Given the description of an element on the screen output the (x, y) to click on. 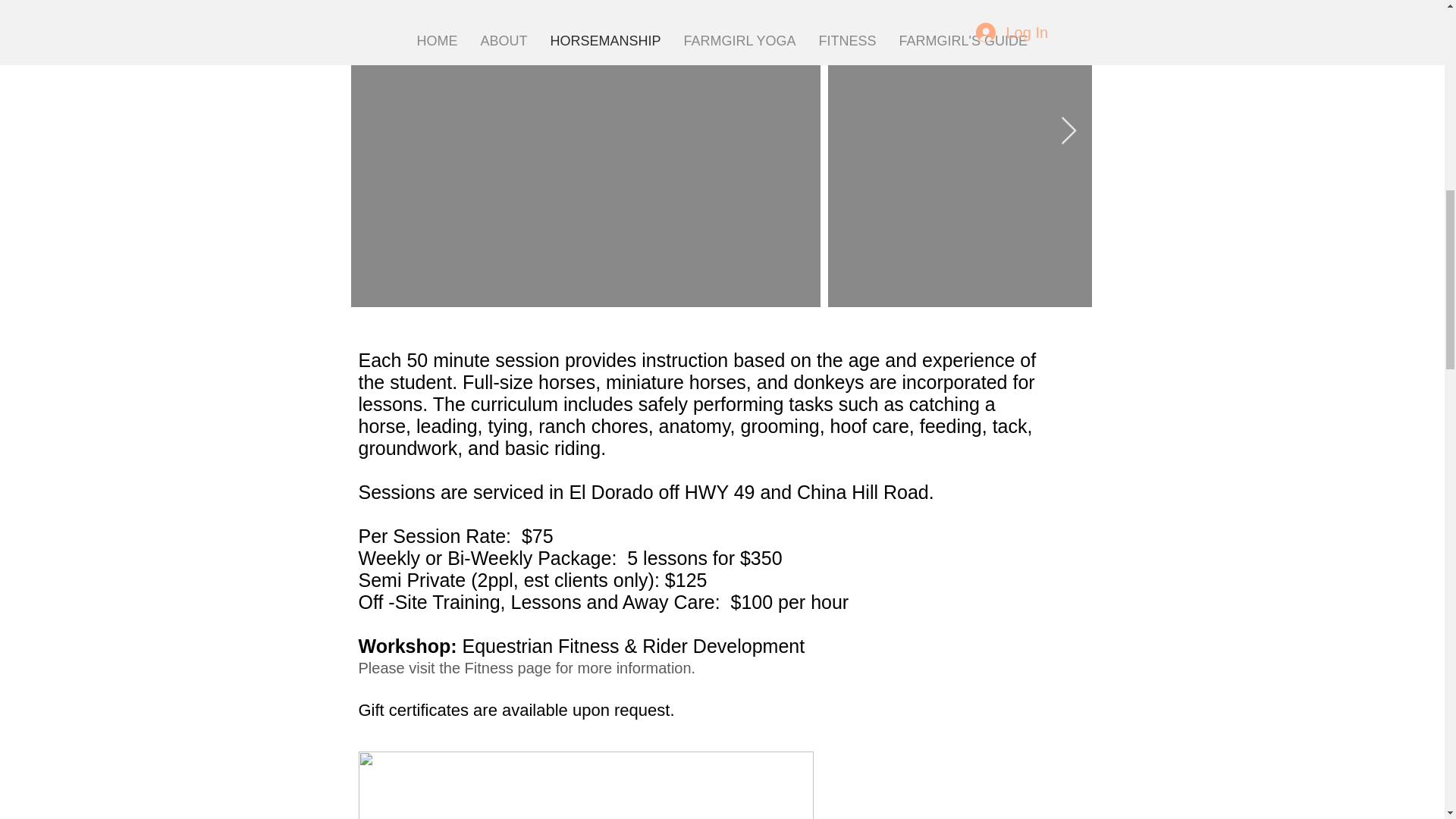
Gift Cert.png (585, 785)
